Given the description of an element on the screen output the (x, y) to click on. 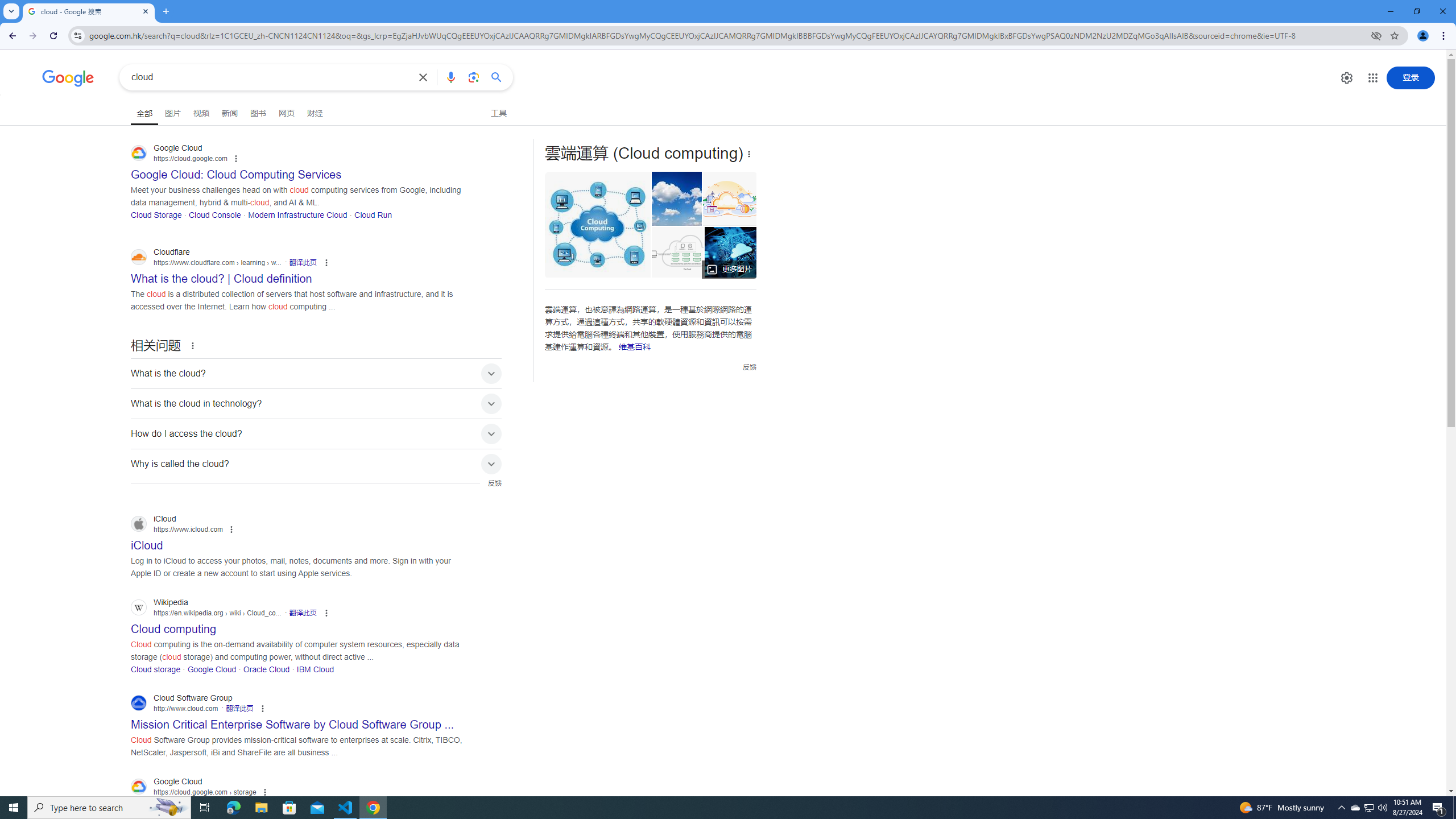
Cloud Console (214, 214)
What is the cloud? (316, 373)
Cloud Run (373, 214)
